Given the description of an element on the screen output the (x, y) to click on. 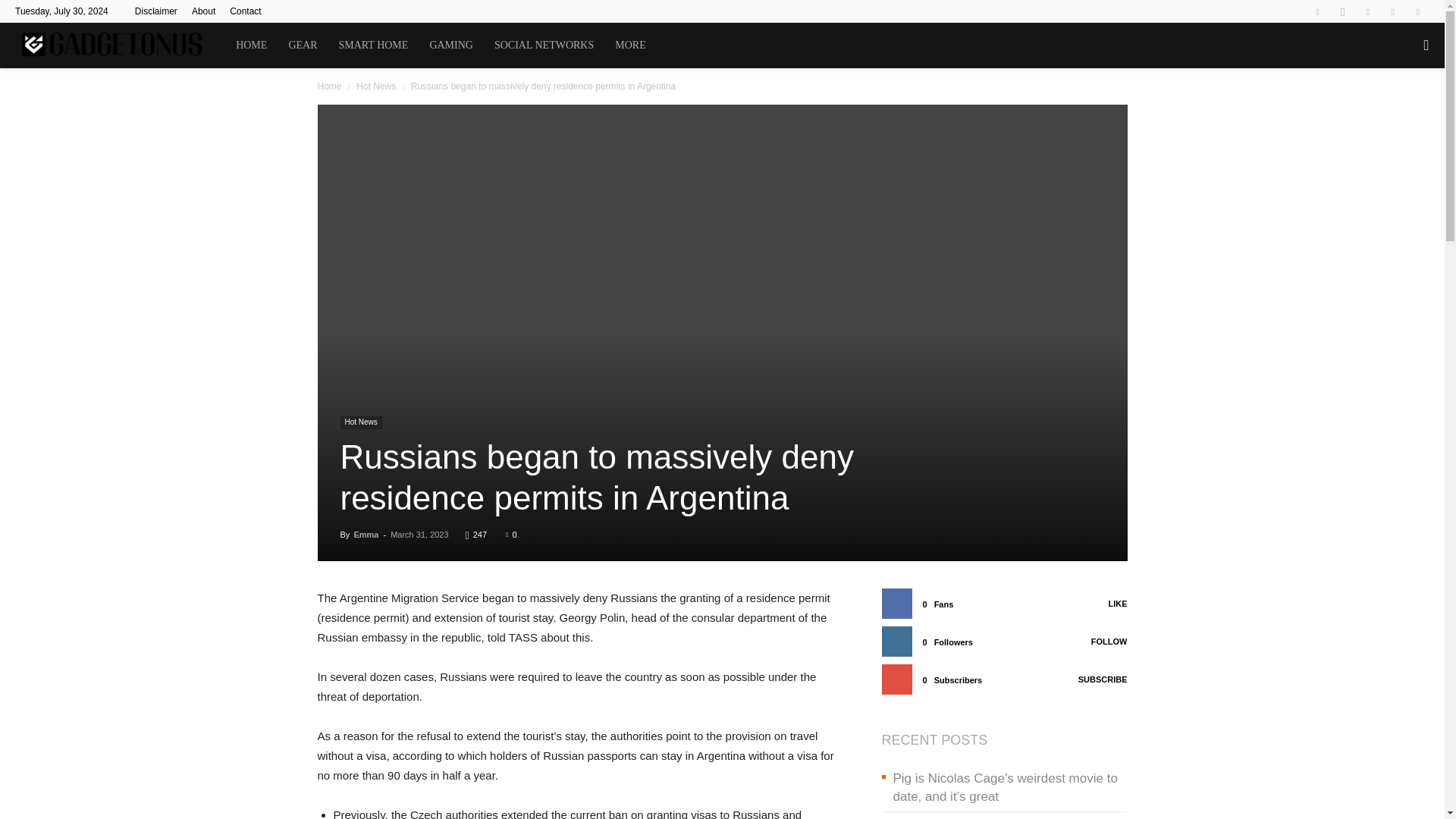
Instagram (1343, 11)
Youtube (1417, 11)
Twitter (1367, 11)
About (203, 10)
Facebook (1317, 11)
Disclaimer (156, 10)
Gadgetonus (119, 45)
Contact (245, 10)
GEAR (302, 44)
Vimeo (1393, 11)
HOME (251, 44)
